Given the description of an element on the screen output the (x, y) to click on. 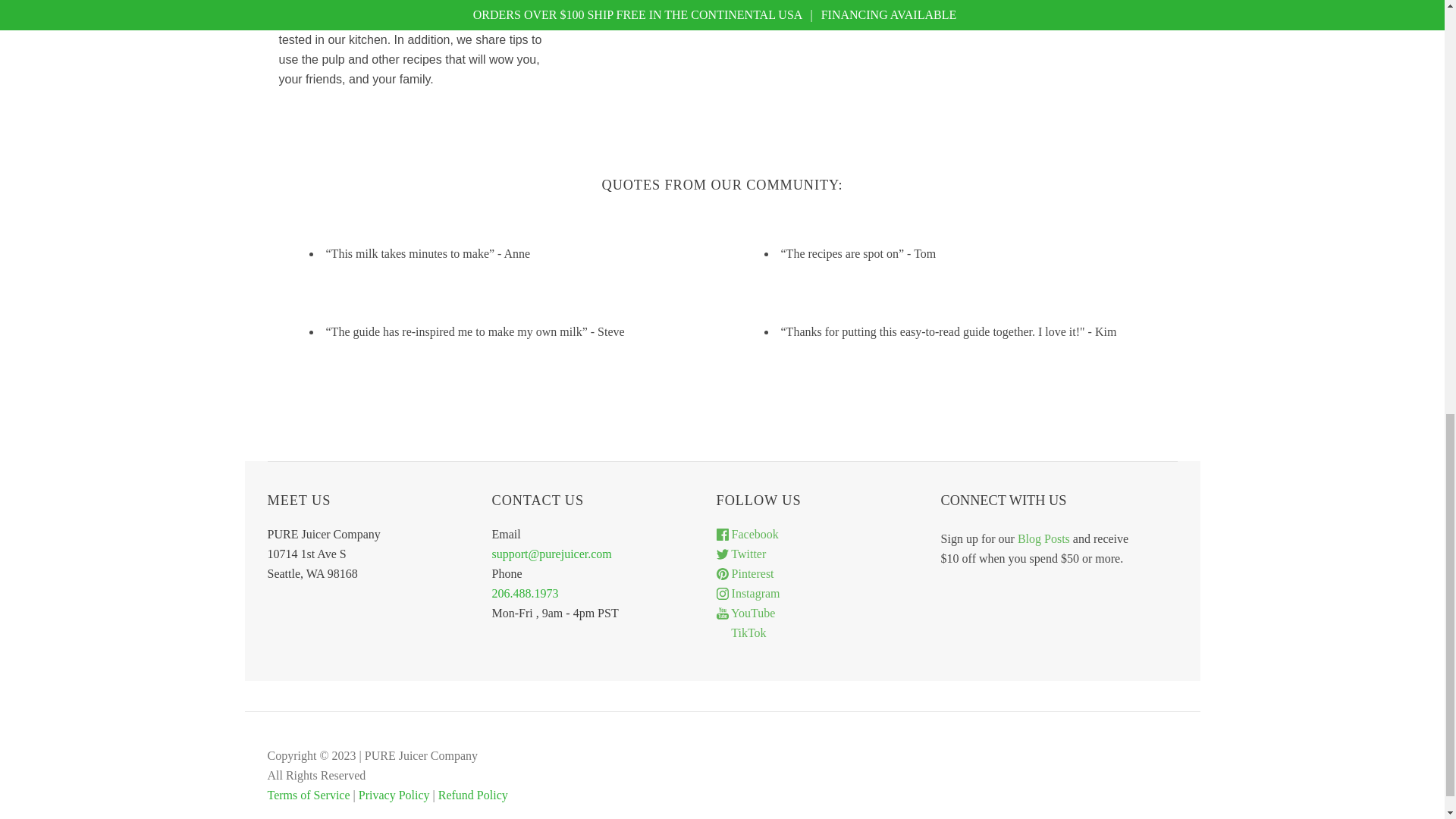
TikTok (741, 632)
Refund Policy (473, 794)
Privacy Policy (395, 794)
Facebook (747, 533)
YouTube (746, 612)
Terms of Service (309, 794)
Pinterest (745, 573)
Twitter (741, 553)
Pinterest (745, 573)
Facebook (747, 533)
